Given the description of an element on the screen output the (x, y) to click on. 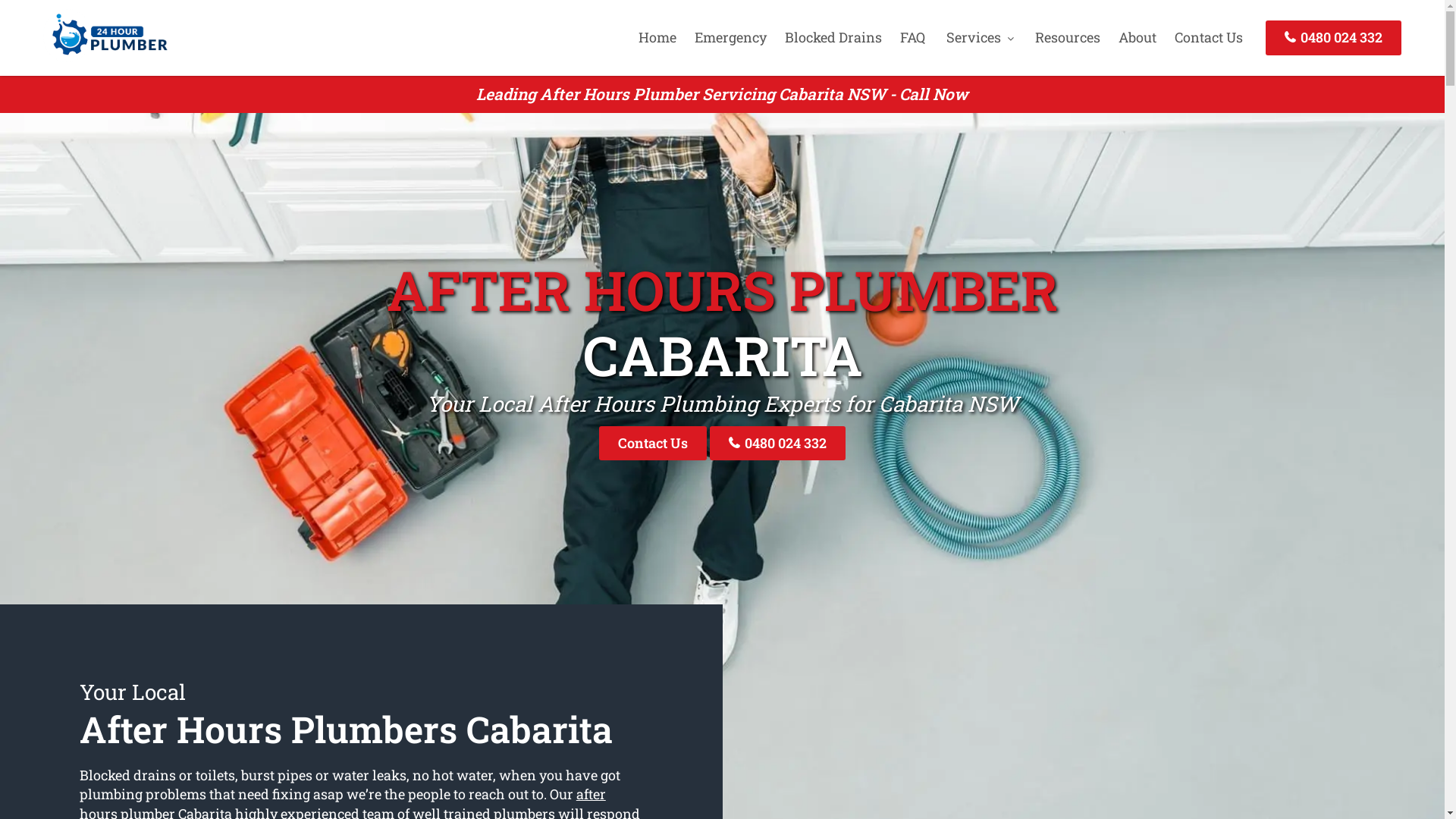
24 Hour Plumber Element type: hover (105, 56)
About Element type: text (1137, 37)
Resources Element type: text (1067, 37)
0480 024 332 Element type: text (777, 443)
Home Element type: text (657, 37)
0480 024 332 Element type: text (1333, 37)
Blocked Drains Element type: text (833, 37)
Contact Us Element type: text (1208, 37)
FAQ Element type: text (912, 37)
Emergency Element type: text (730, 37)
Services Element type: text (979, 37)
Contact Us Element type: text (652, 443)
